Given the description of an element on the screen output the (x, y) to click on. 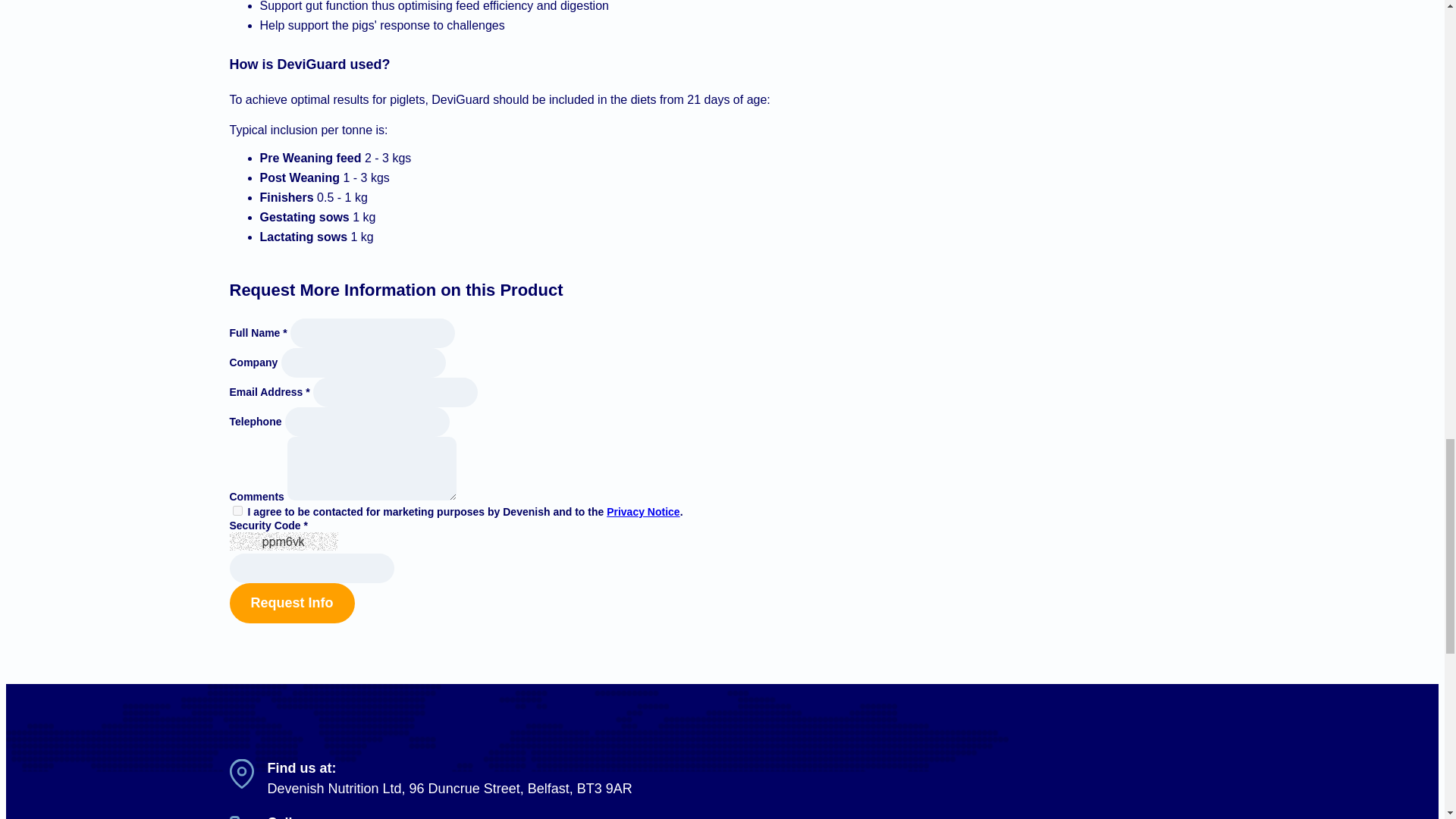
yes (236, 510)
Request Info (290, 603)
